Given the description of an element on the screen output the (x, y) to click on. 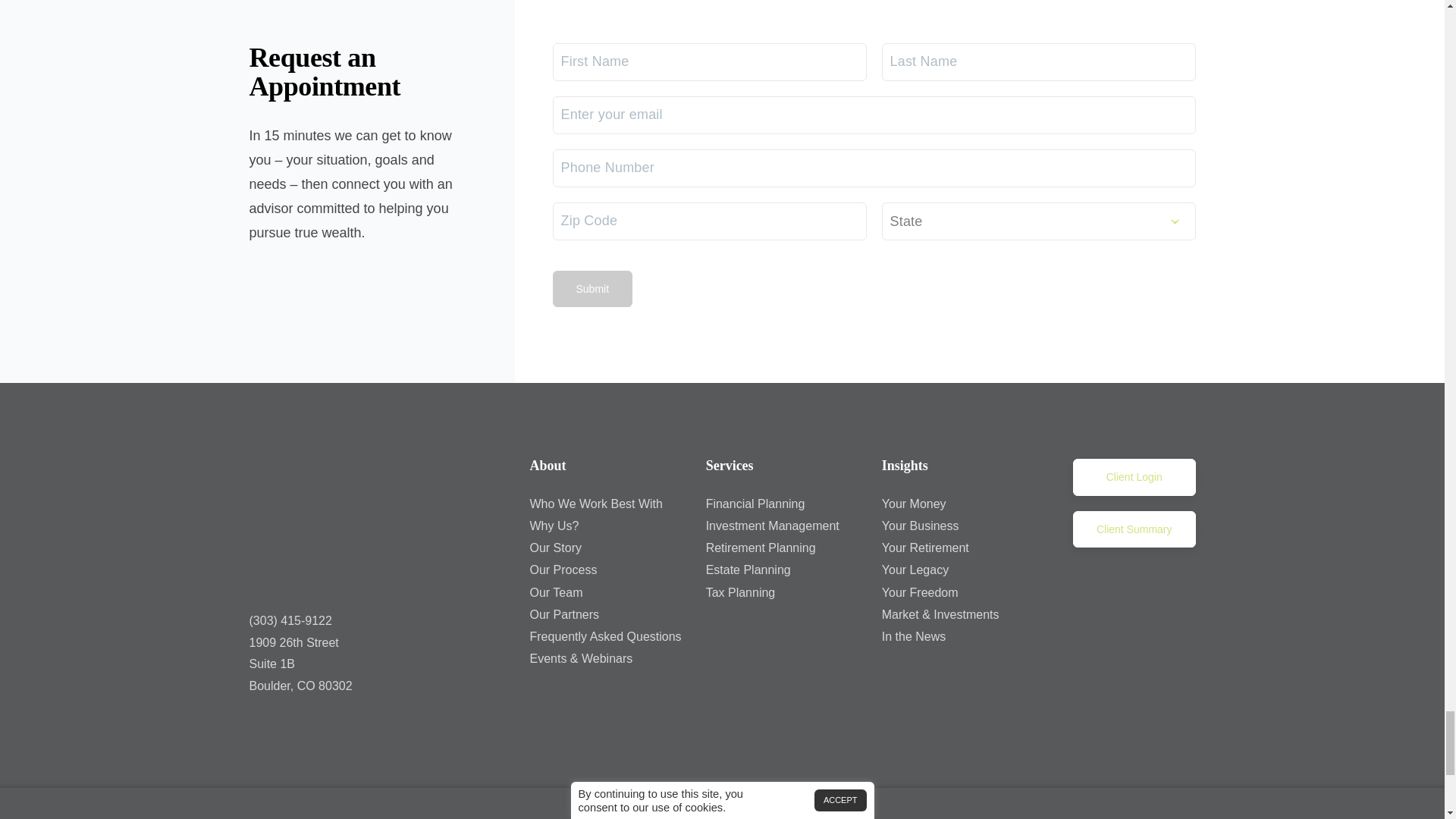
Submit (591, 289)
